Given the description of an element on the screen output the (x, y) to click on. 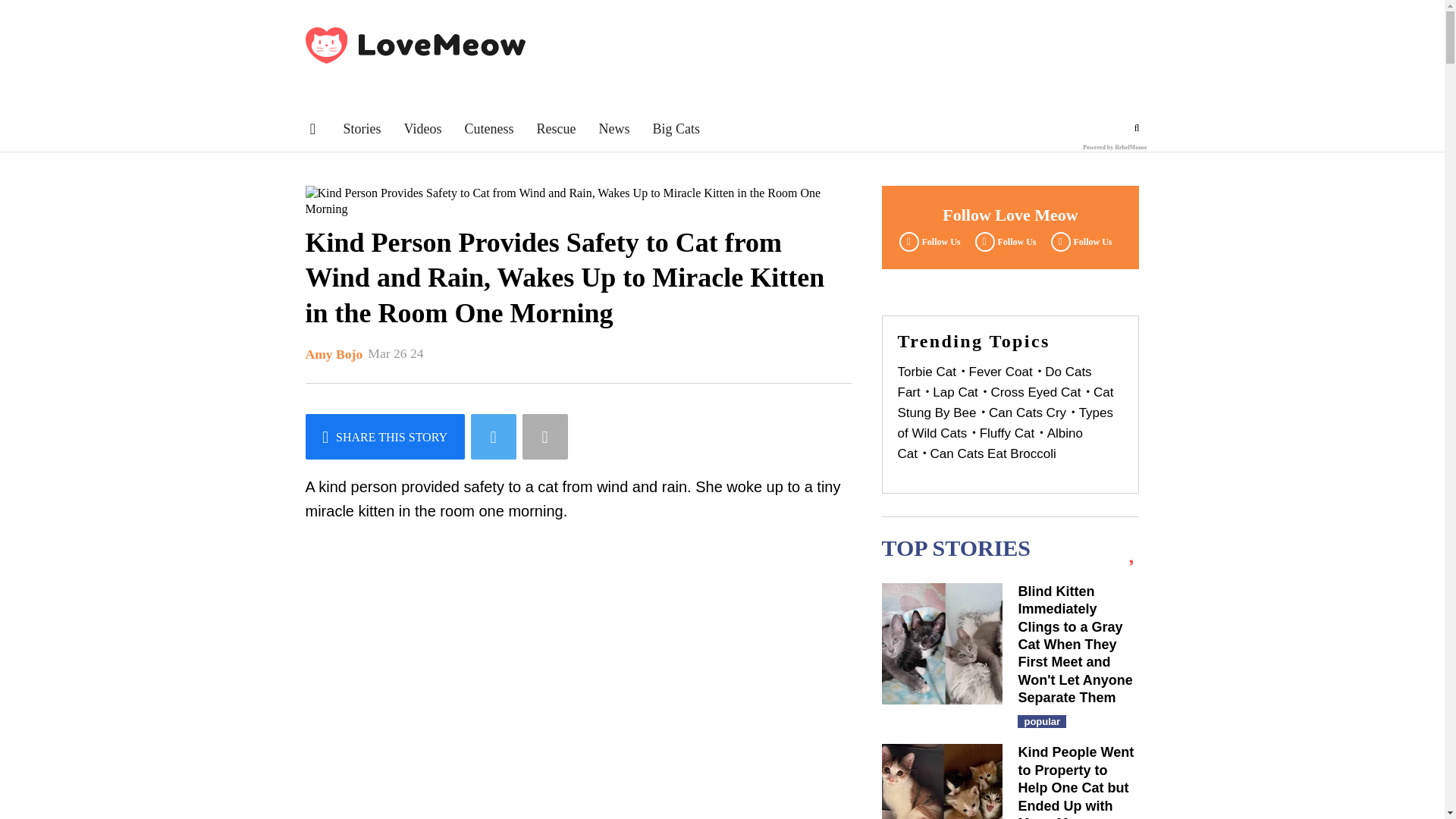
Best CMS (1115, 147)
Cuteness (488, 128)
Twitter (1003, 241)
Big Cats (676, 128)
Amy Bojo (333, 354)
Instagram (1079, 241)
Facebook (926, 241)
Powered by RebelMouse (1115, 147)
